Given the description of an element on the screen output the (x, y) to click on. 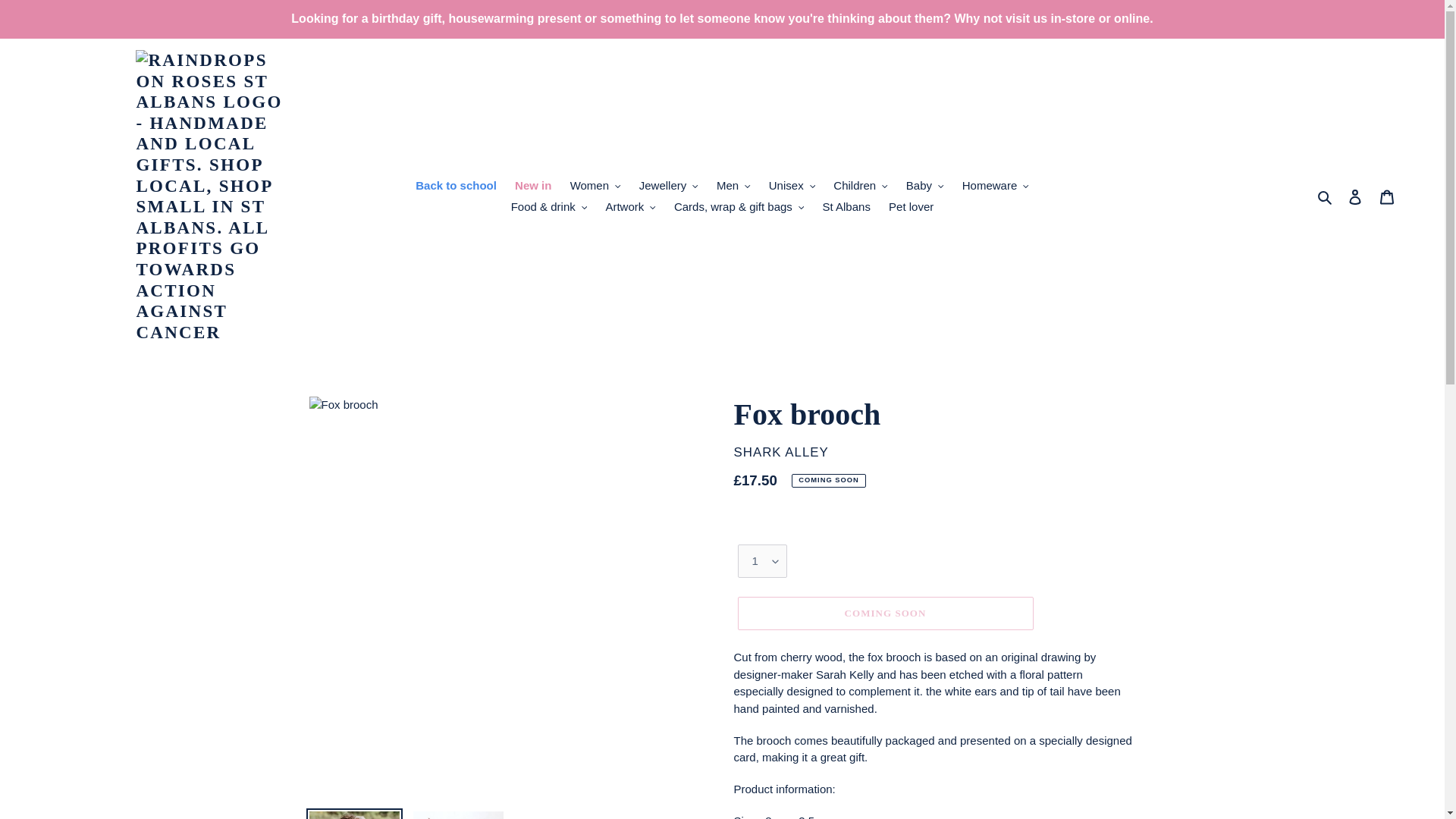
Jewellery (668, 186)
New in (532, 186)
Men (733, 186)
Women (595, 186)
Back to school (455, 186)
